Given the description of an element on the screen output the (x, y) to click on. 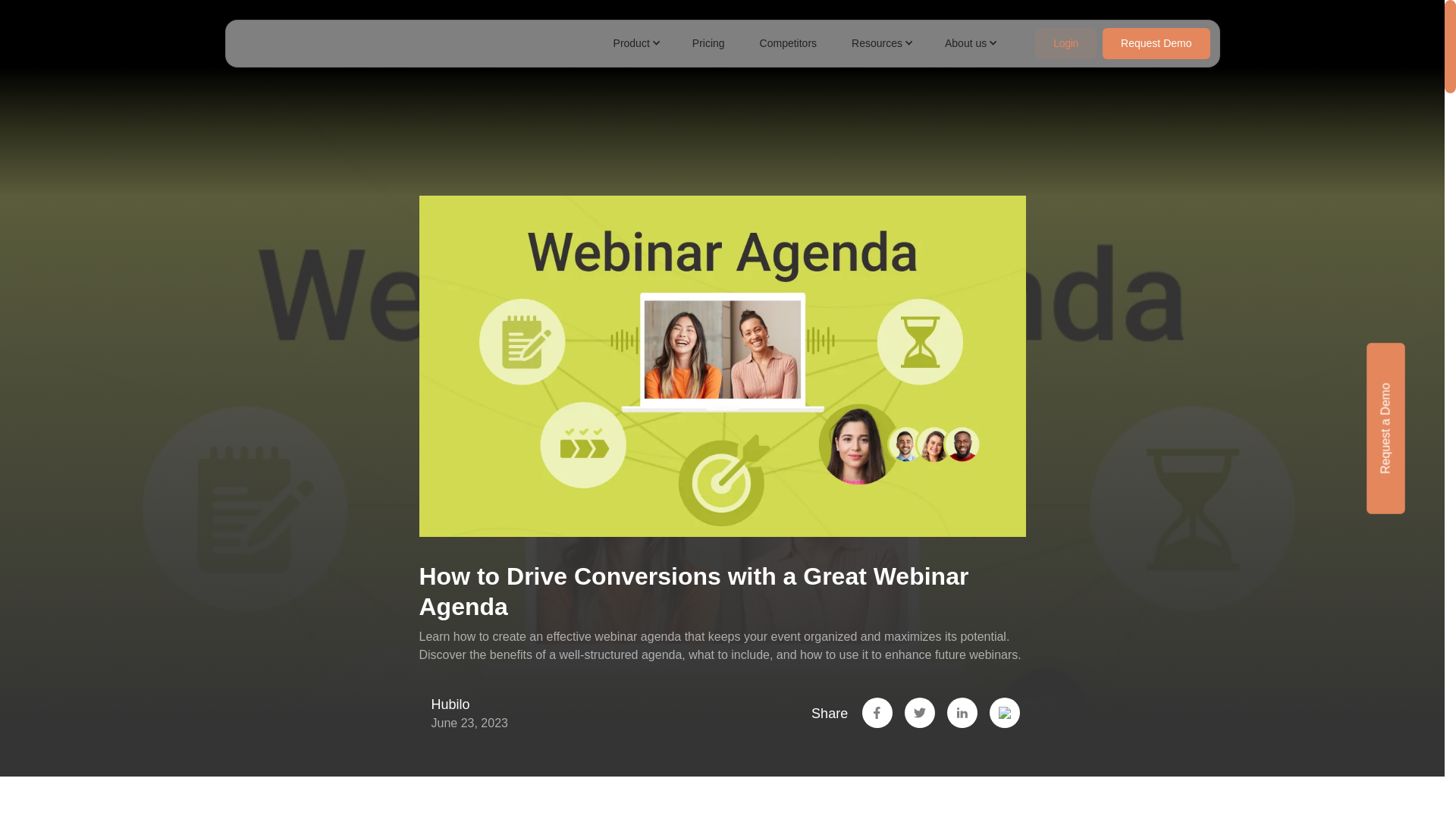
Competitors (784, 43)
Pricing (704, 43)
Search (34, 13)
Login (1065, 42)
Request Demo (1155, 42)
